Given the description of an element on the screen output the (x, y) to click on. 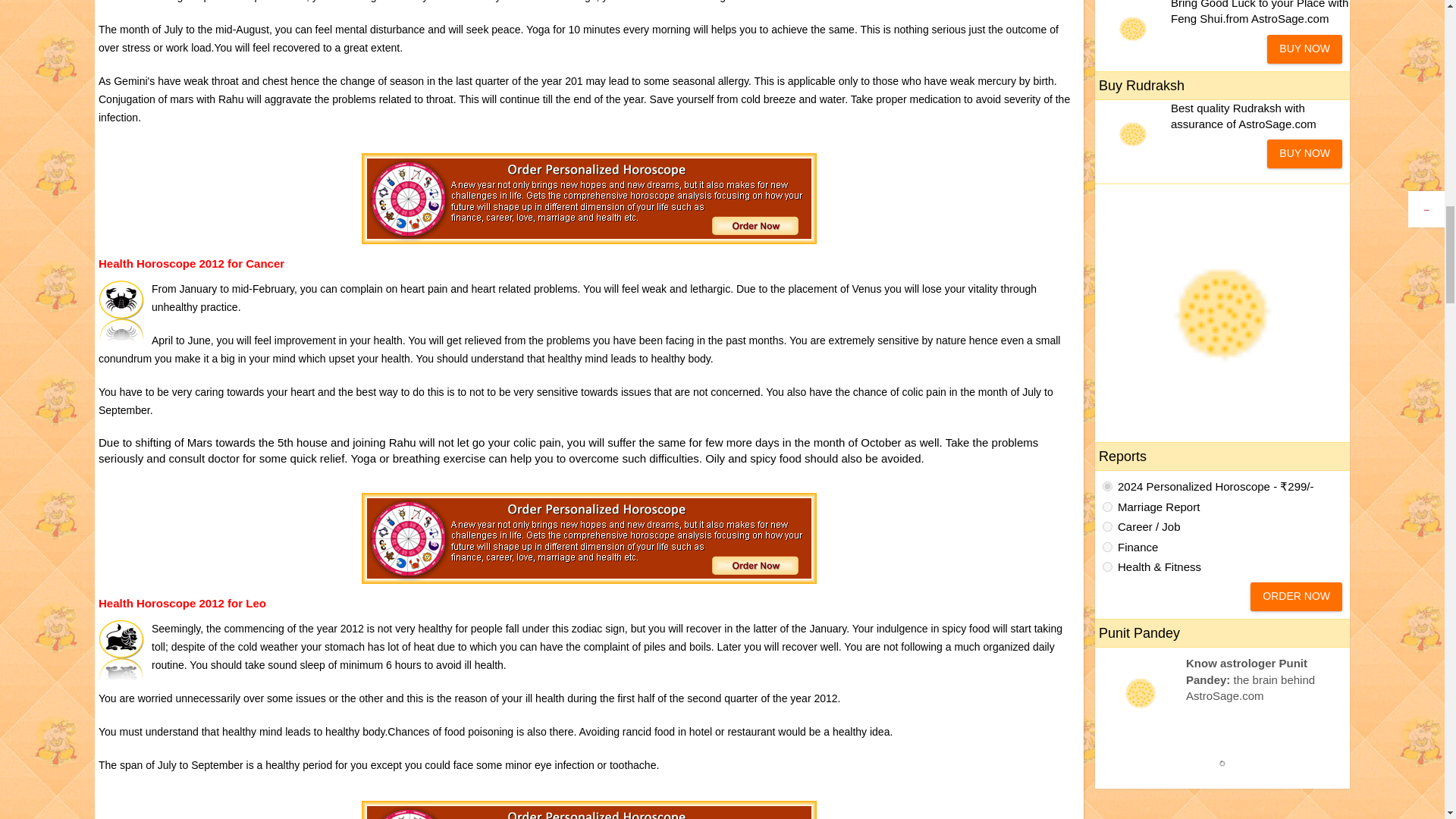
finance-new2 (1107, 547)
marriage-and-love-analysis-new2 (1107, 506)
health-fitness (1107, 566)
personalized-horoscope-2020 (1107, 486)
career-job-new2 (1107, 526)
